Given the description of an element on the screen output the (x, y) to click on. 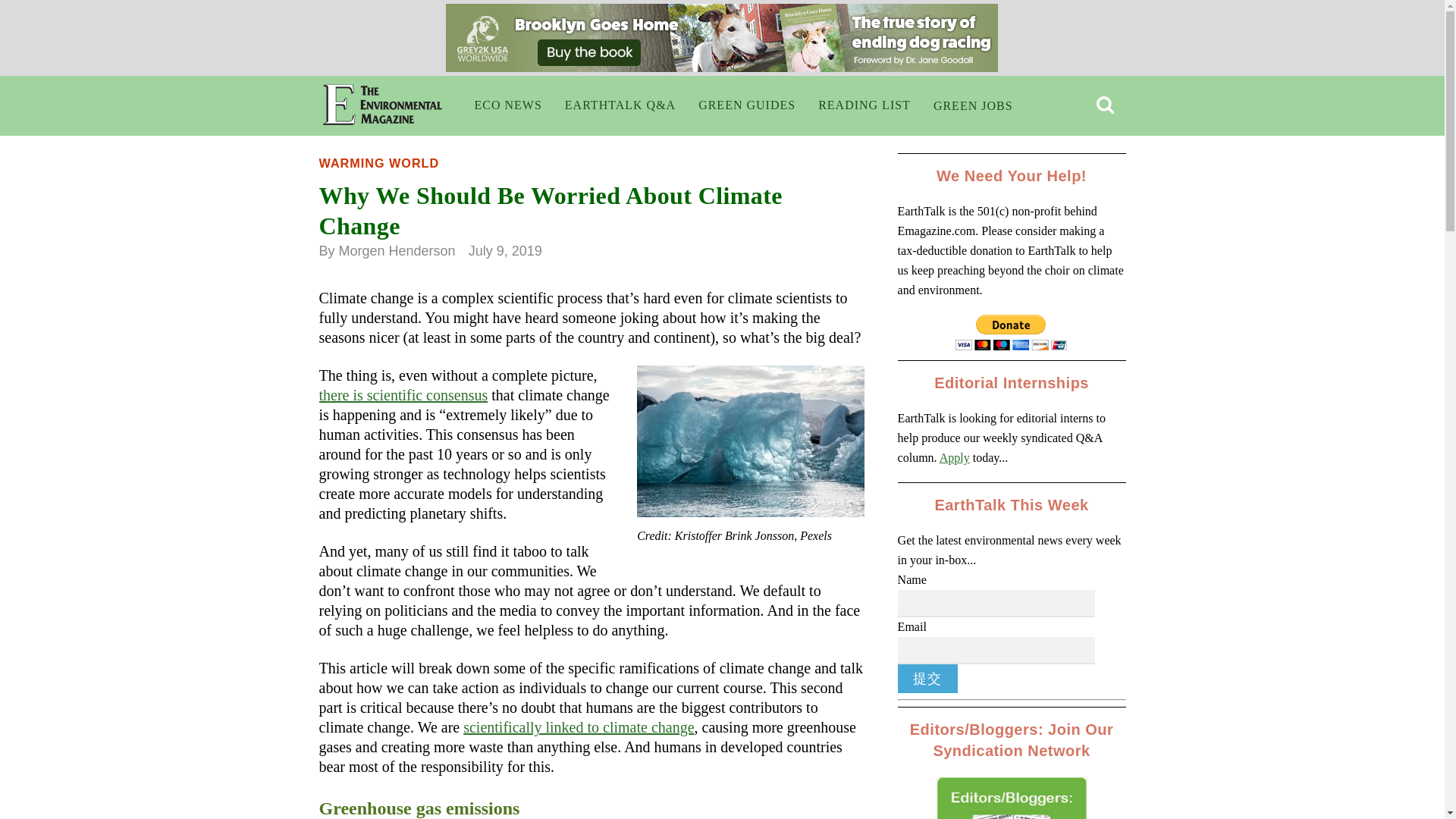
Why We Should Be Worried About Climate Change (549, 210)
GREEN JOBS (973, 105)
ECO NEWS (508, 105)
WARMING WORLD (378, 162)
GREEN GUIDES (746, 105)
READING LIST (863, 105)
there is scientific consensus (402, 394)
Emagazine.com (382, 114)
Morgen Henderson (397, 250)
Apply (954, 457)
